Given the description of an element on the screen output the (x, y) to click on. 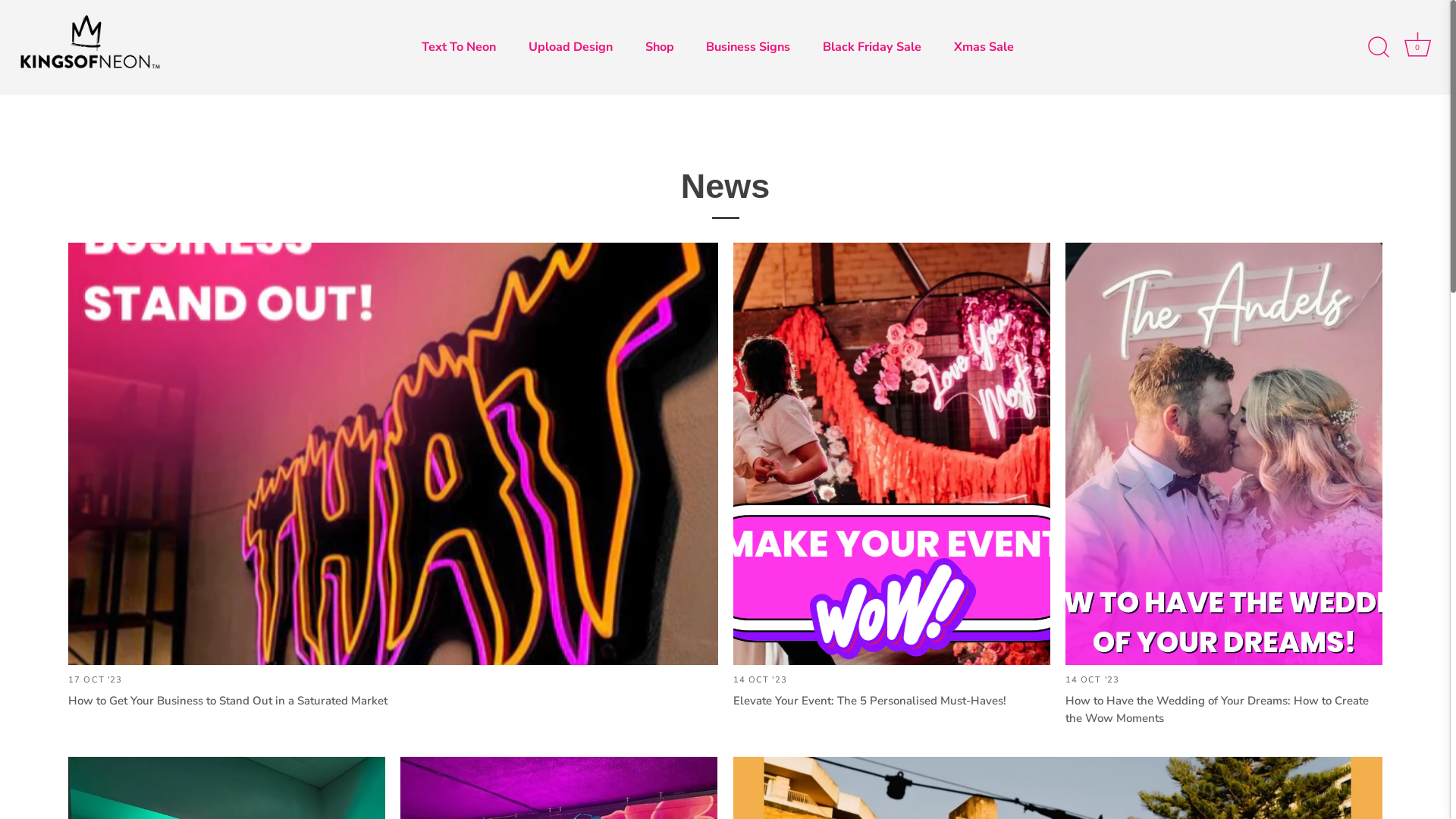
Xmas Sale Element type: text (984, 47)
Black Friday Sale Element type: text (872, 47)
Text To Neon Element type: text (458, 47)
Cart
0 Element type: text (1417, 47)
Shop Element type: text (659, 47)
Business Signs Element type: text (748, 47)
Upload Design Element type: text (570, 47)
